Given the description of an element on the screen output the (x, y) to click on. 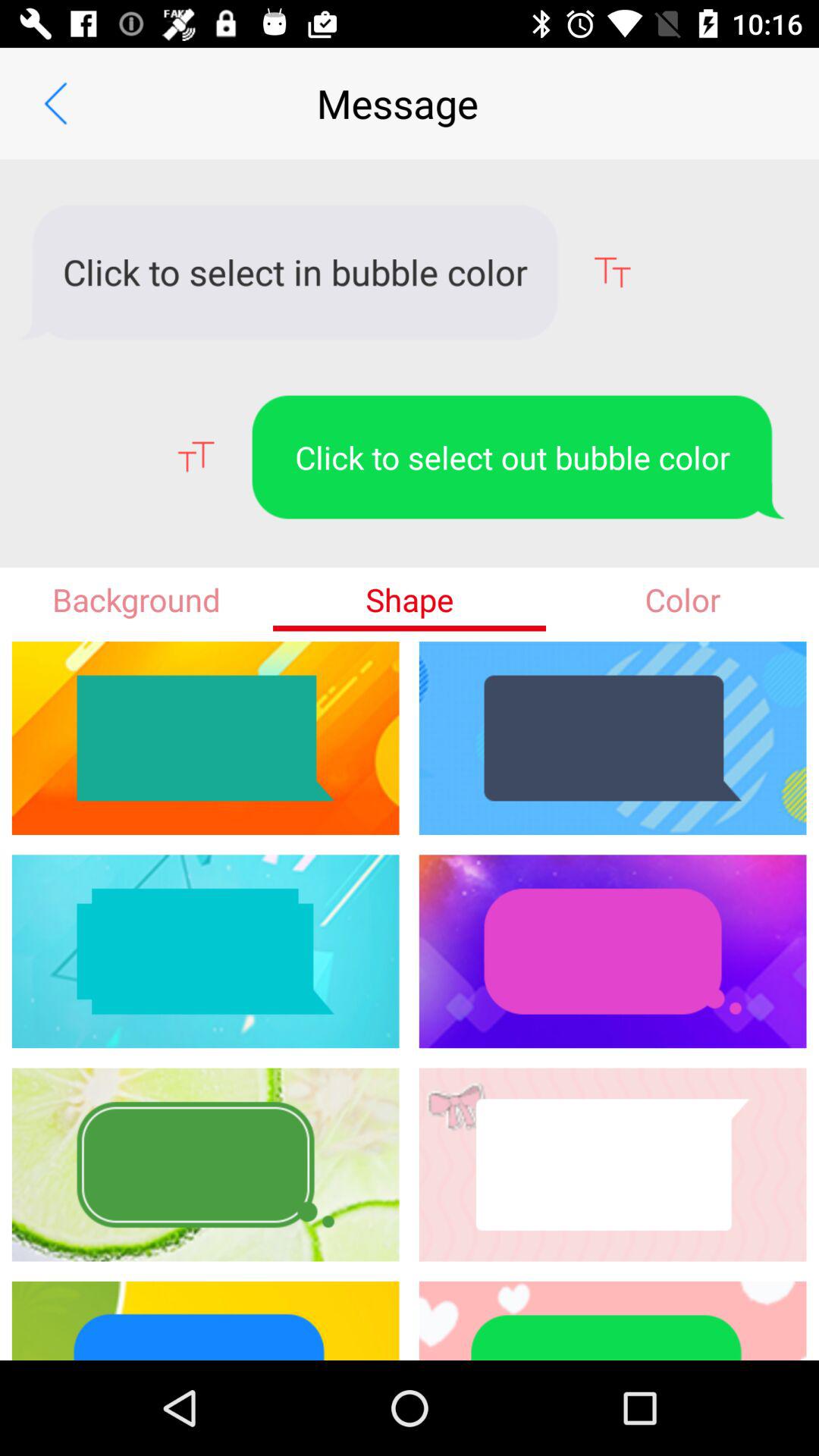
jump to the background item (136, 599)
